Given the description of an element on the screen output the (x, y) to click on. 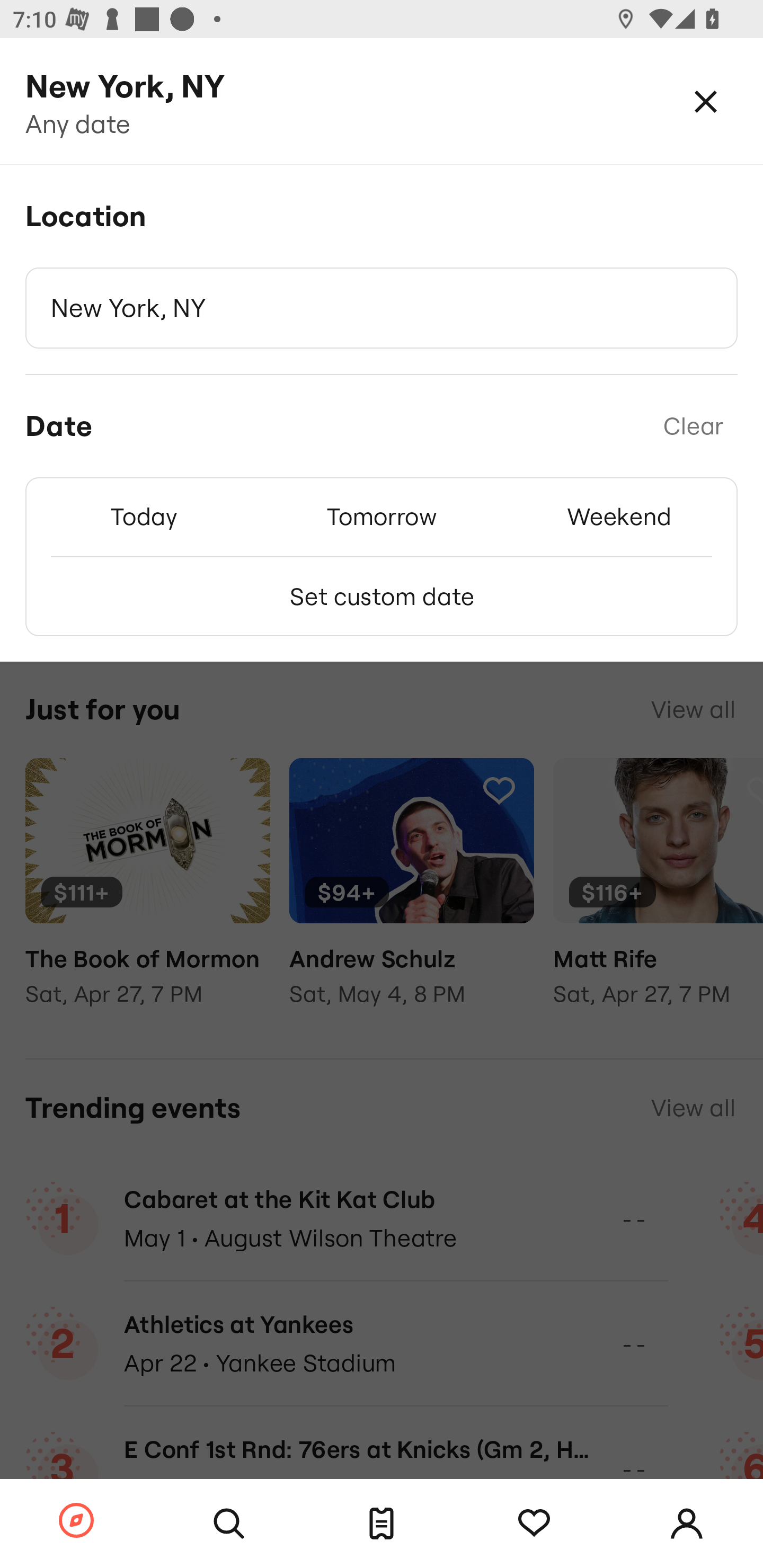
Close (705, 100)
New York, NY (381, 308)
Clear (693, 426)
Today (143, 516)
Tomorrow (381, 516)
Weekend (618, 516)
Set custom date (381, 596)
Browse (76, 1521)
Search (228, 1523)
Tickets (381, 1523)
Tracking (533, 1523)
Account (686, 1523)
